Given the description of an element on the screen output the (x, y) to click on. 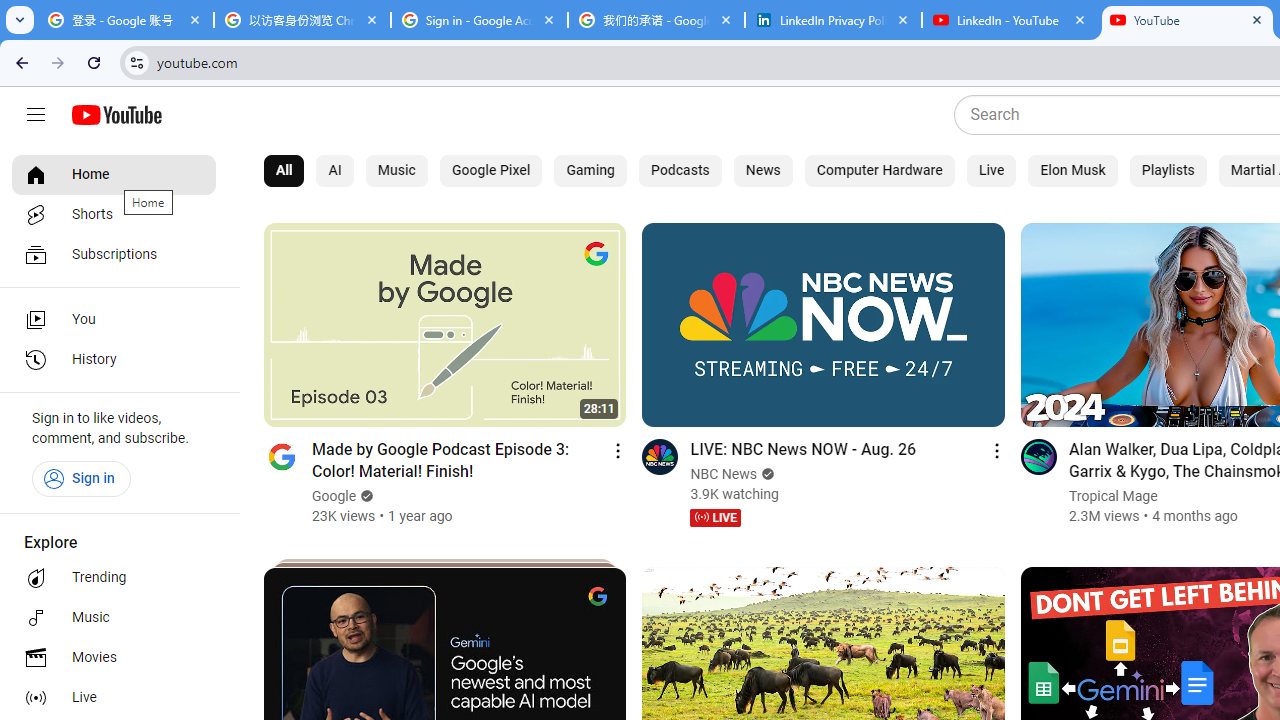
News (763, 170)
Google Pixel (490, 170)
Trending (113, 578)
LinkedIn - YouTube (1010, 20)
Podcasts (679, 170)
AI (335, 170)
Sign in - Google Accounts (479, 20)
Computer Hardware (878, 170)
Playlists (1167, 170)
LinkedIn Privacy Policy (833, 20)
Movies (113, 657)
Sign in (81, 478)
